Given the description of an element on the screen output the (x, y) to click on. 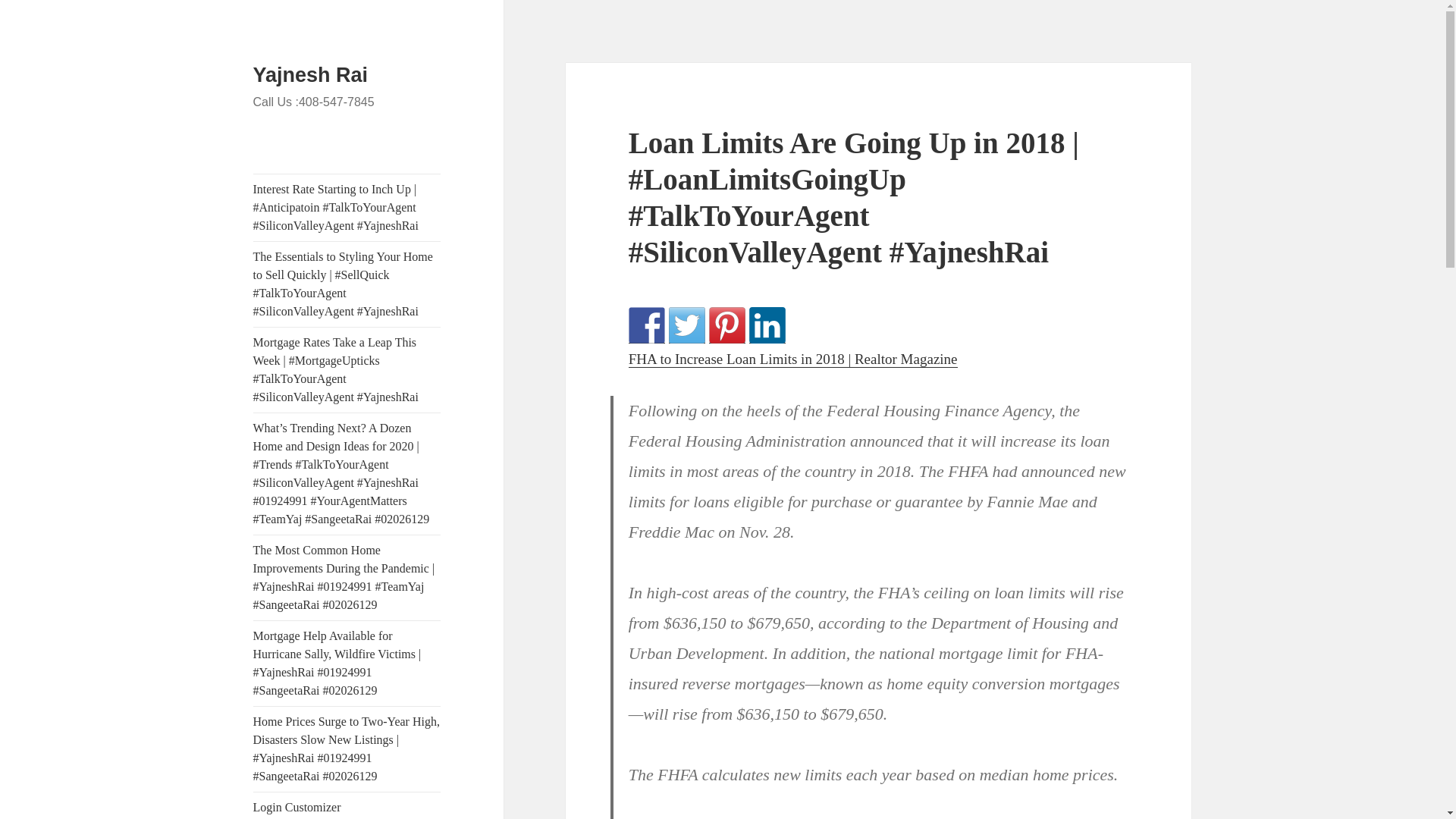
Share on Facebook (646, 325)
Pin it with Pinterest (727, 325)
Share on Twitter (686, 325)
Yajnesh Rai (310, 74)
Login Customizer (347, 805)
Share on Linkedin (767, 325)
